Given the description of an element on the screen output the (x, y) to click on. 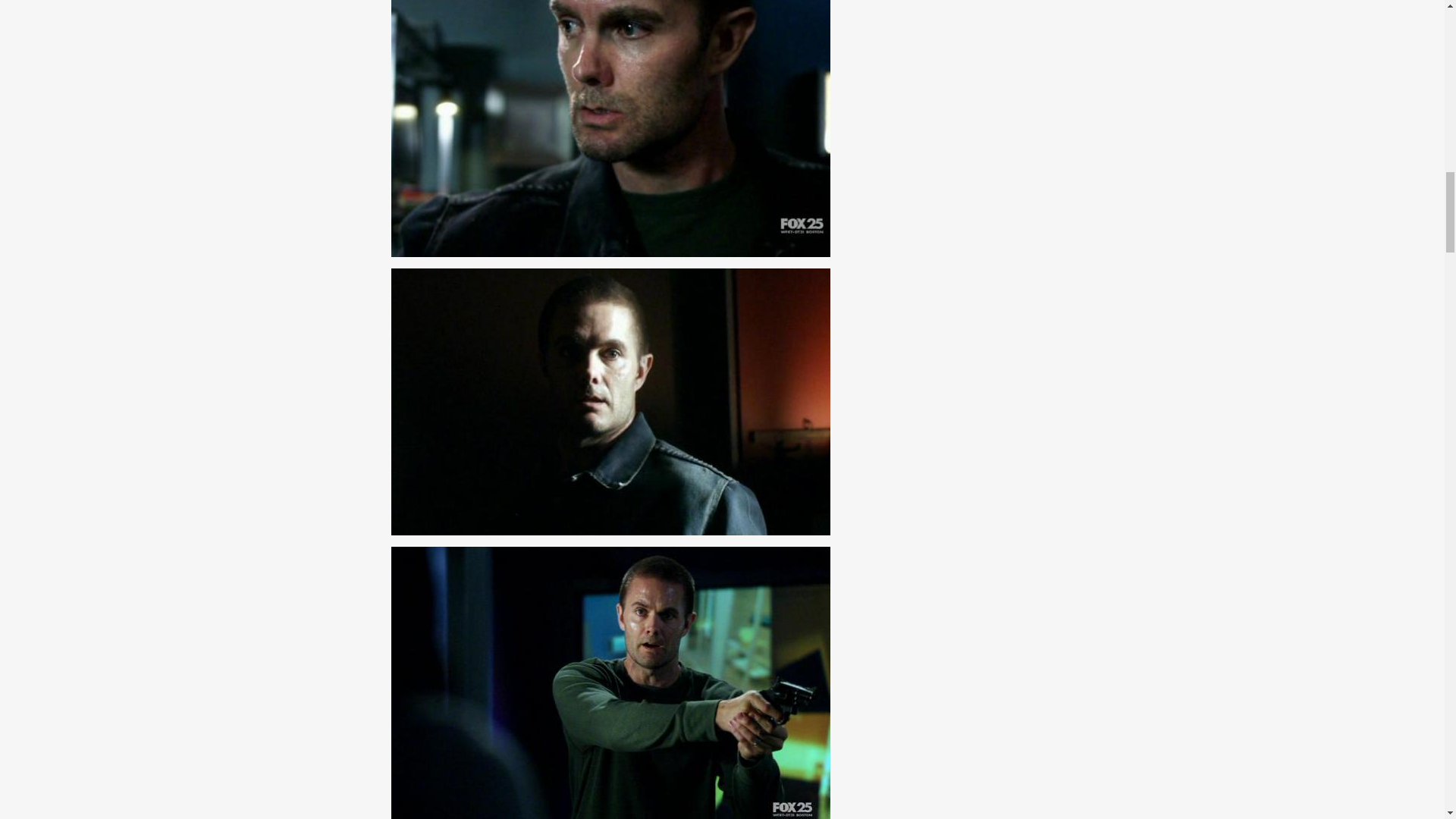
Garret Dillahunt in Lie to Me 2x04 Honey (610, 128)
Garret Dillahunt in Lie to Me 2x04 Honey (610, 401)
Garret Dillahunt in Lie to Me 2x04 Honey (610, 682)
